Given the description of an element on the screen output the (x, y) to click on. 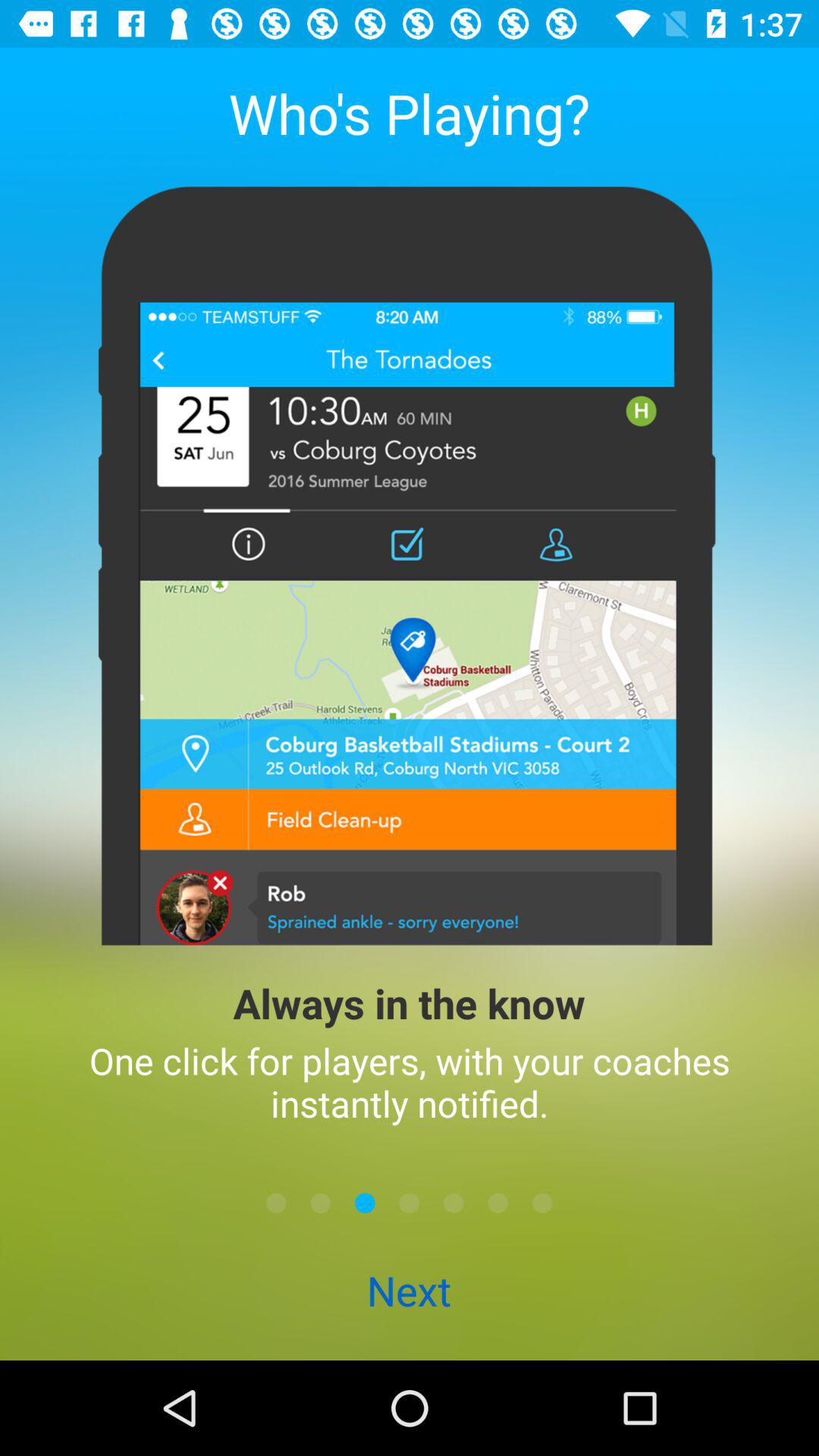
swipe until next (409, 1292)
